Given the description of an element on the screen output the (x, y) to click on. 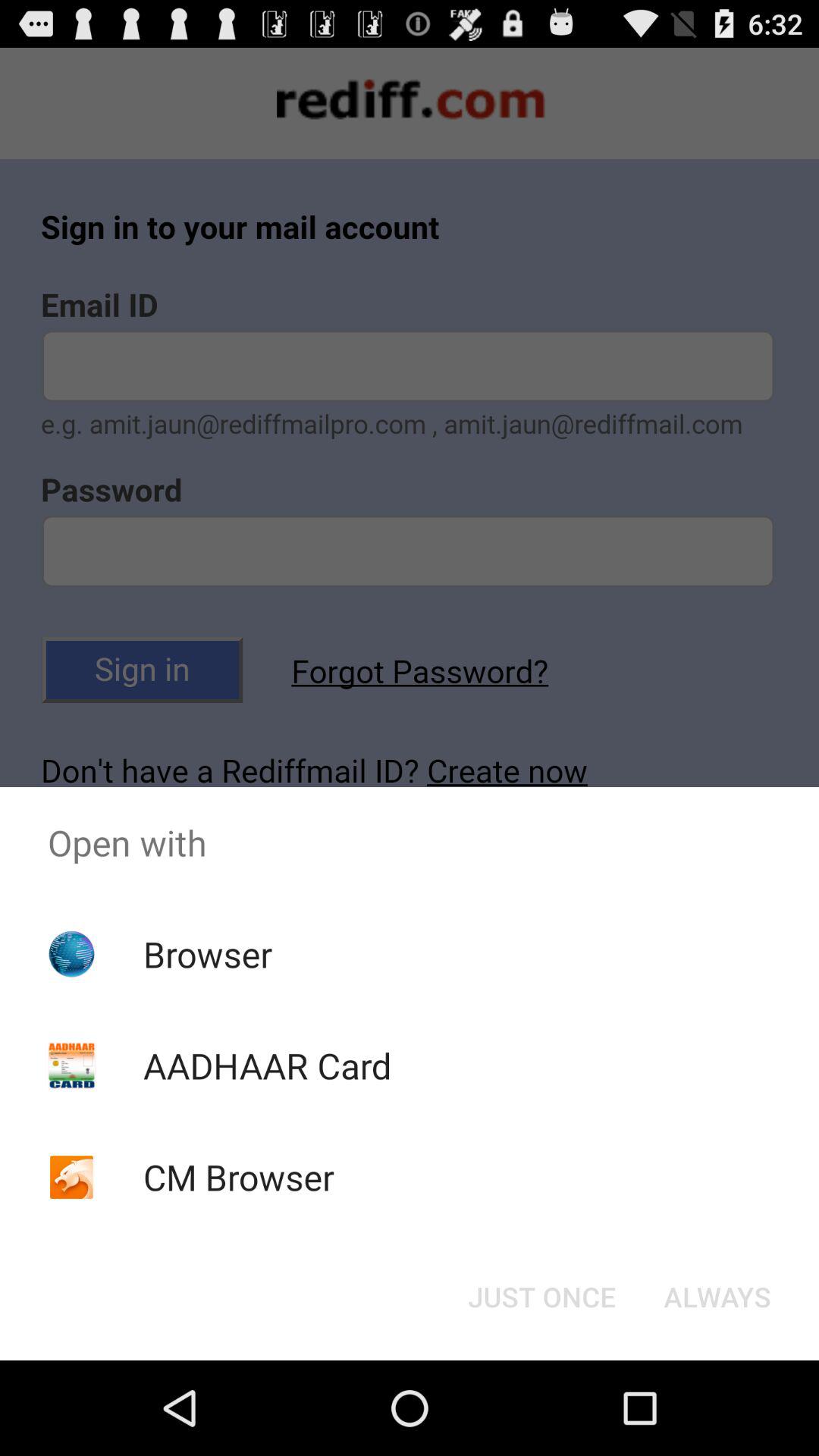
launch the icon to the right of just once item (717, 1296)
